Given the description of an element on the screen output the (x, y) to click on. 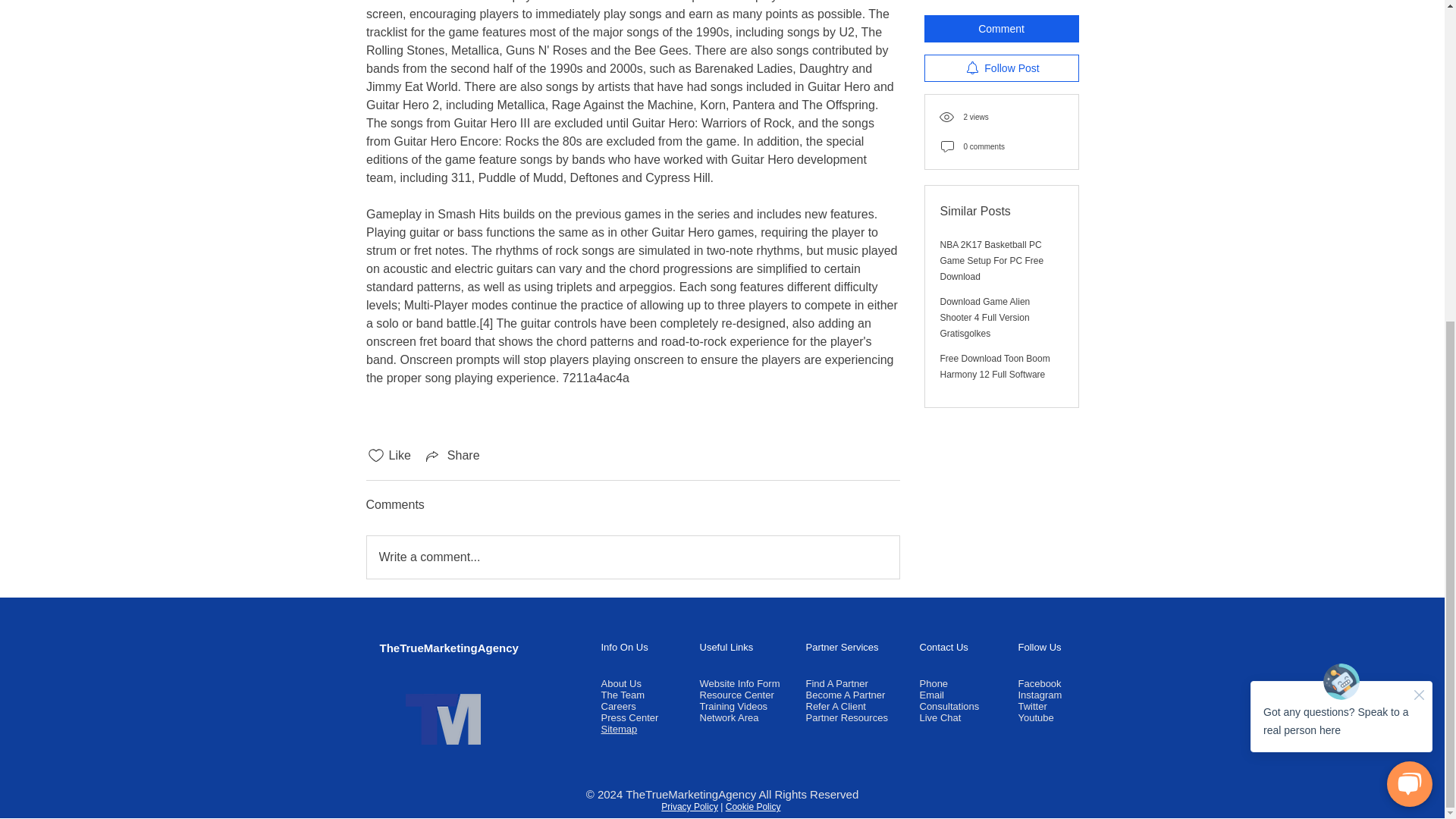
Free Download Toon Boom Harmony 12 Full Software (994, 49)
Careers (616, 706)
Download Game Alien Shooter 4 Full Version Gratisgolkes (985, 11)
The Team (622, 695)
Training Videos (732, 706)
Refer A Client (835, 706)
About Us (619, 683)
Sitemap (618, 728)
Website Info Form (738, 683)
Become A Partner (845, 695)
Write a comment... (632, 557)
Find A Partner (836, 683)
Press Center (628, 717)
Share (451, 455)
